Given the description of an element on the screen output the (x, y) to click on. 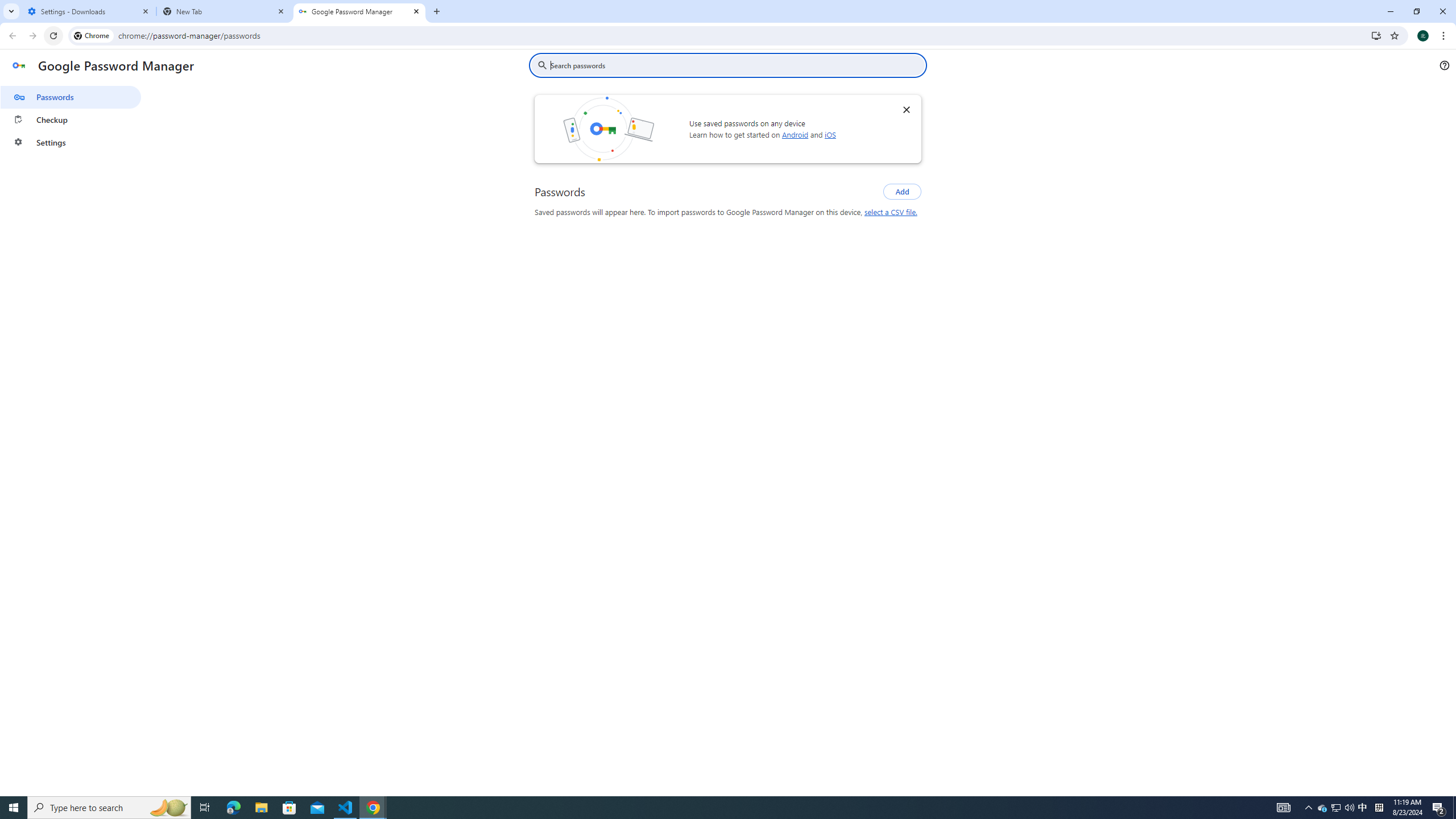
Install Google Password Manager (1376, 35)
Google Password Manager (359, 11)
Android (794, 134)
Search passwords (735, 65)
iOS (829, 134)
Dismiss recommendation (905, 109)
Checkup (70, 119)
